Given the description of an element on the screen output the (x, y) to click on. 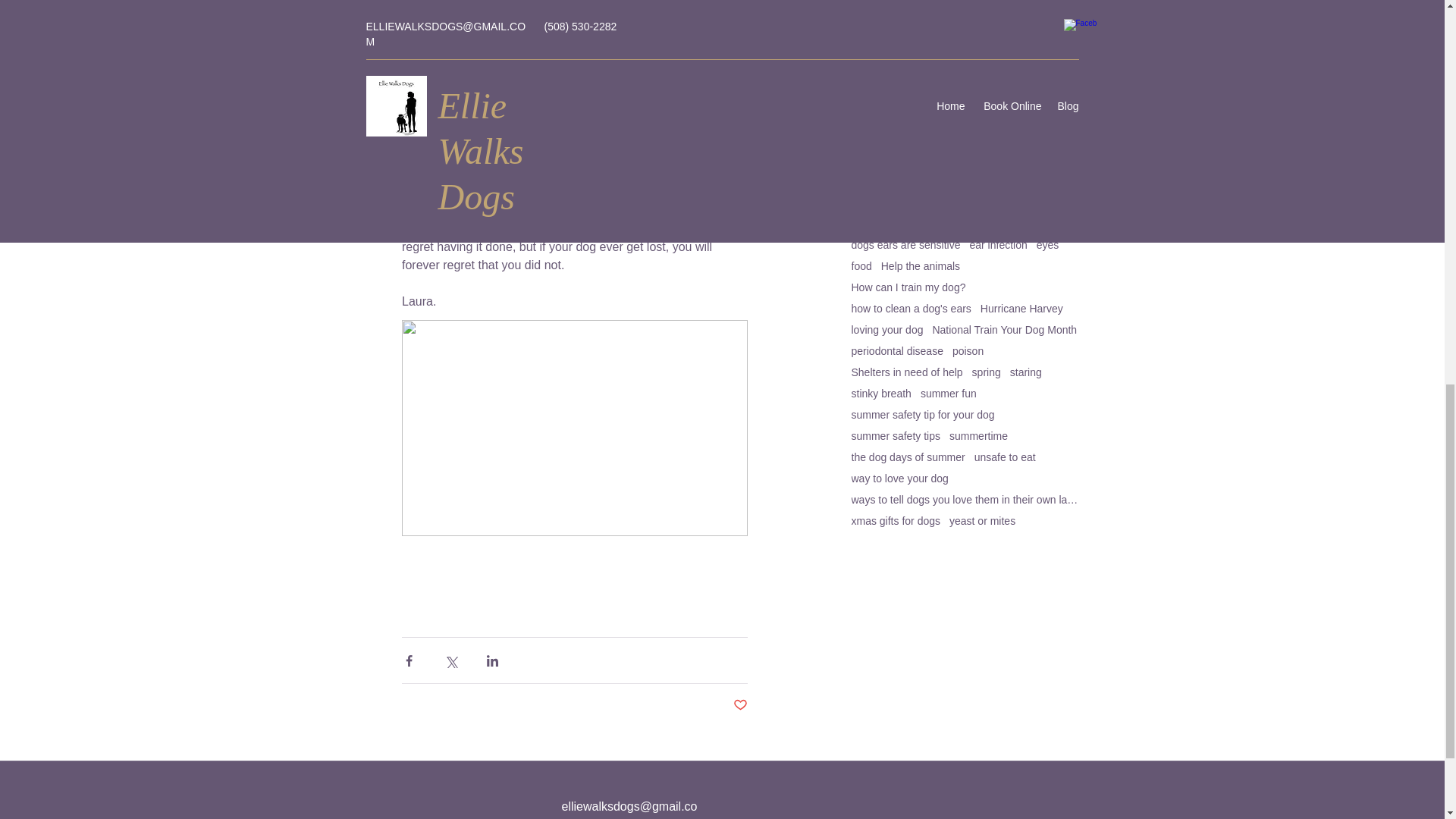
July 2017 (964, 43)
April 2017 (964, 97)
food (860, 265)
dogs (982, 223)
ear infection (997, 244)
way to love your dog (898, 478)
dog training (1018, 202)
Help the animals (919, 265)
dog's clean ear solution (906, 223)
staring (1026, 372)
Shelters in need of help (906, 372)
summer safety tips (894, 435)
poison (968, 350)
Post not marked as liked (739, 705)
xmas gifts for dogs (895, 521)
